Given the description of an element on the screen output the (x, y) to click on. 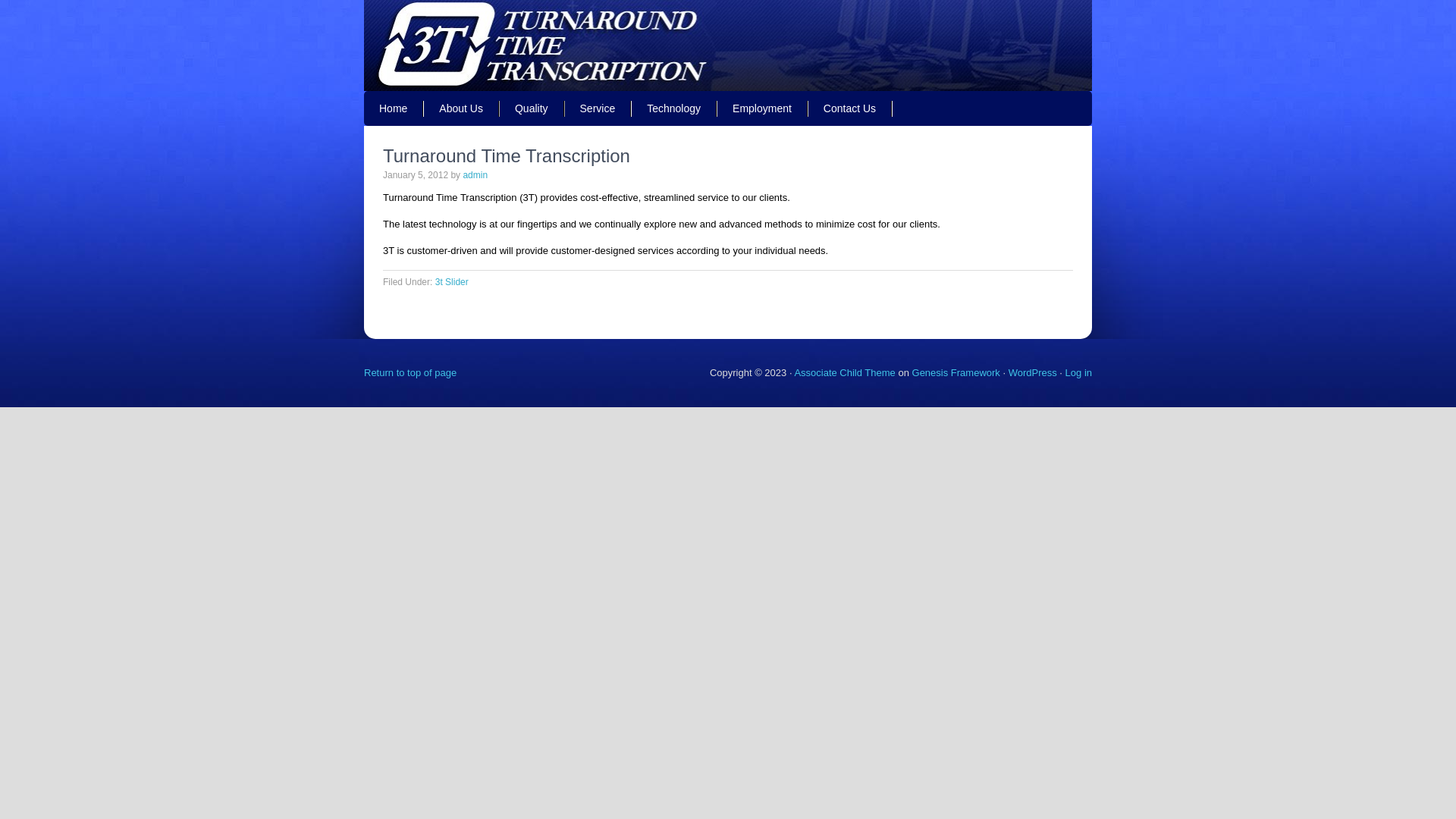
Log in Element type: text (1078, 372)
3t Slider Element type: text (451, 281)
Home Element type: text (393, 108)
Service Element type: text (598, 108)
Contact Us Element type: text (850, 108)
Return to top of page Element type: text (410, 372)
About Us Element type: text (461, 108)
Associate Child Theme Element type: text (843, 372)
Technology Element type: text (674, 108)
Genesis Framework Element type: text (956, 372)
Employment Element type: text (762, 108)
WordPress Element type: text (1032, 372)
3T INC. - QUALITY MEDICAL TRANSCRIPTION COMPANY Element type: text (728, 45)
admin Element type: text (474, 174)
Quality Element type: text (531, 108)
